Given the description of an element on the screen output the (x, y) to click on. 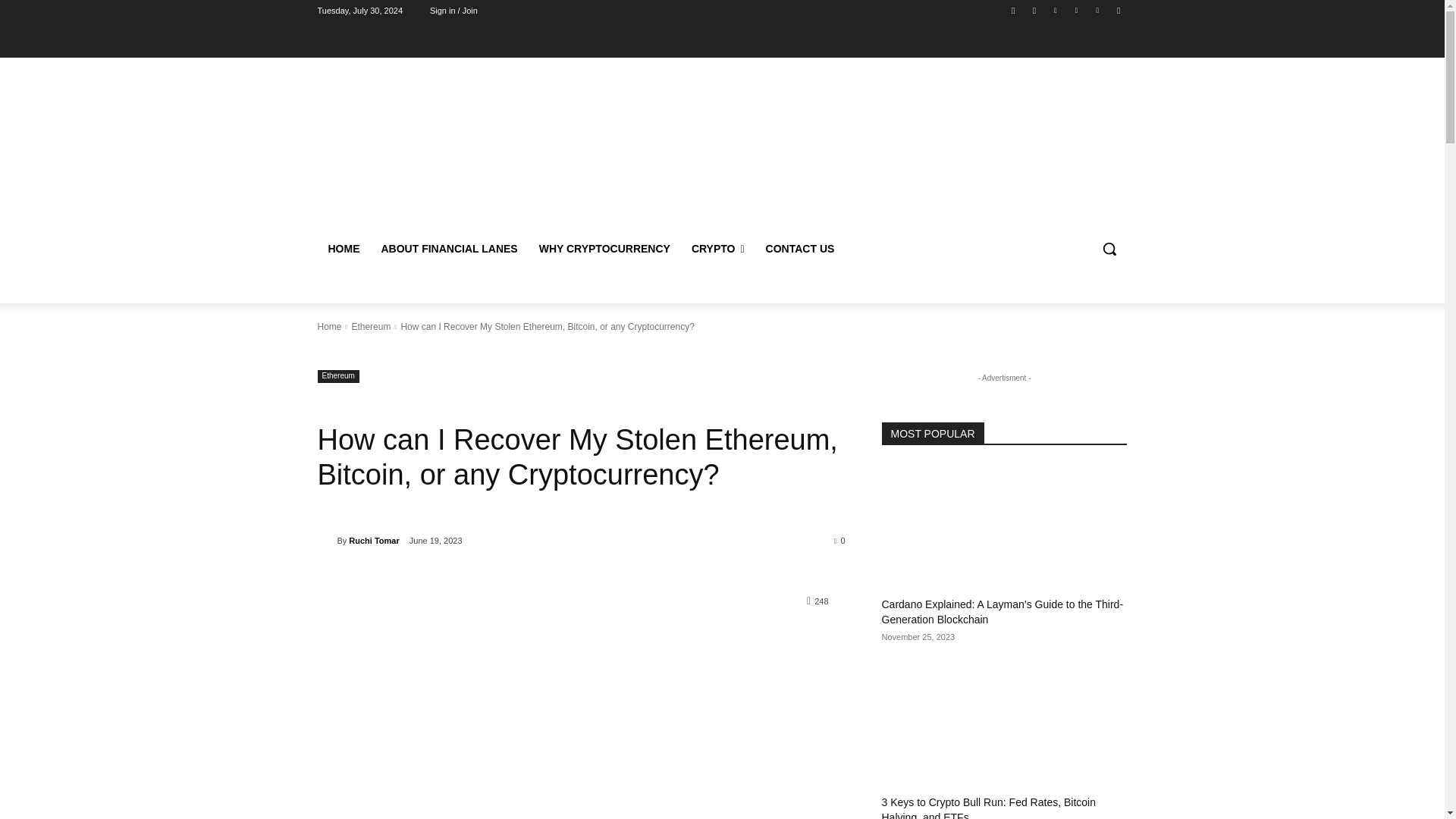
Instagram (1034, 9)
Linkedin (1055, 9)
View all posts in Ethereum (370, 326)
Youtube (1117, 9)
Twitter (1097, 9)
Pinterest (1075, 9)
Facebook (1013, 9)
